Given the description of an element on the screen output the (x, y) to click on. 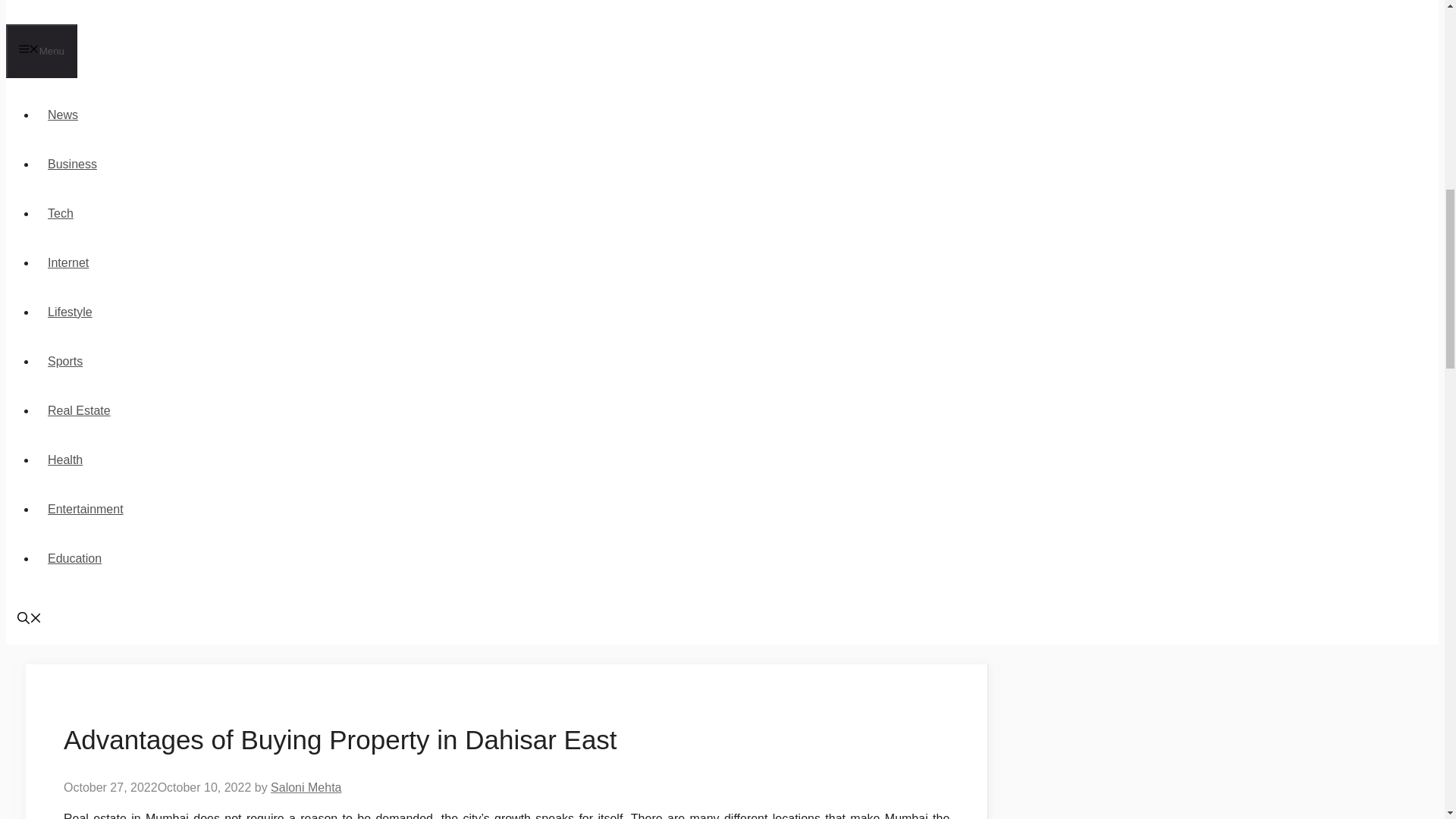
Scroll back to top (1406, 720)
Tech (60, 213)
Sports (65, 360)
Real Estate (79, 410)
View all posts by Saloni Mehta (305, 787)
Saloni Mehta (305, 787)
Education (74, 558)
News (62, 114)
Menu (41, 50)
Internet (68, 262)
